Given the description of an element on the screen output the (x, y) to click on. 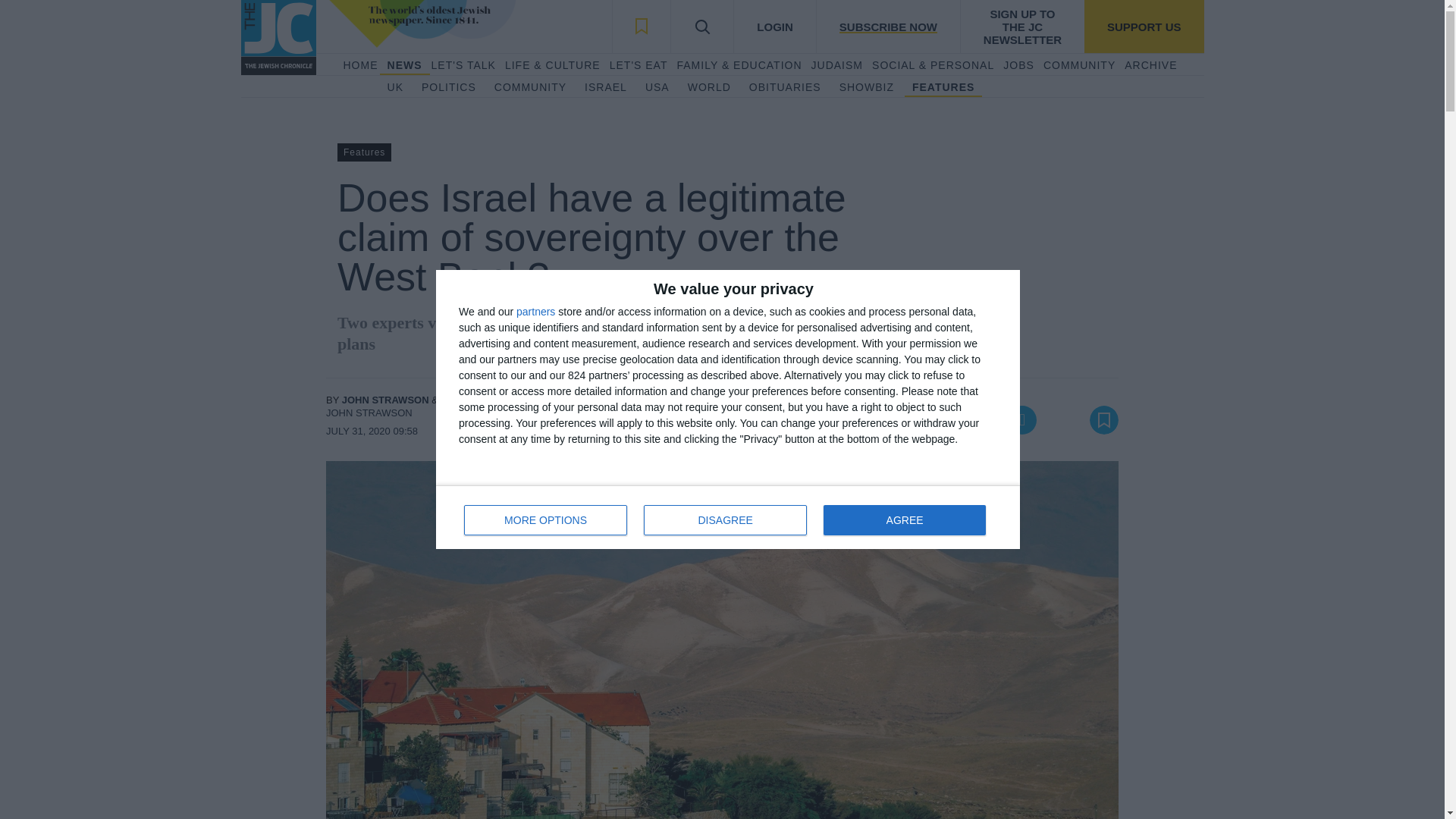
USA (657, 87)
SUBSCRIBE NOW (887, 26)
SIGN UP TO THE JC NEWSLETTER (1021, 26)
UK (395, 87)
WORLD (708, 87)
NEWS (404, 65)
JOBS (1018, 65)
partners (535, 311)
ARCHIVE (1150, 65)
POLITICS (449, 87)
SHOWBIZ (866, 87)
COMMUNITY (530, 87)
SUPPORT US (1144, 26)
DISAGREE (724, 520)
JUDAISM (836, 65)
